Given the description of an element on the screen output the (x, y) to click on. 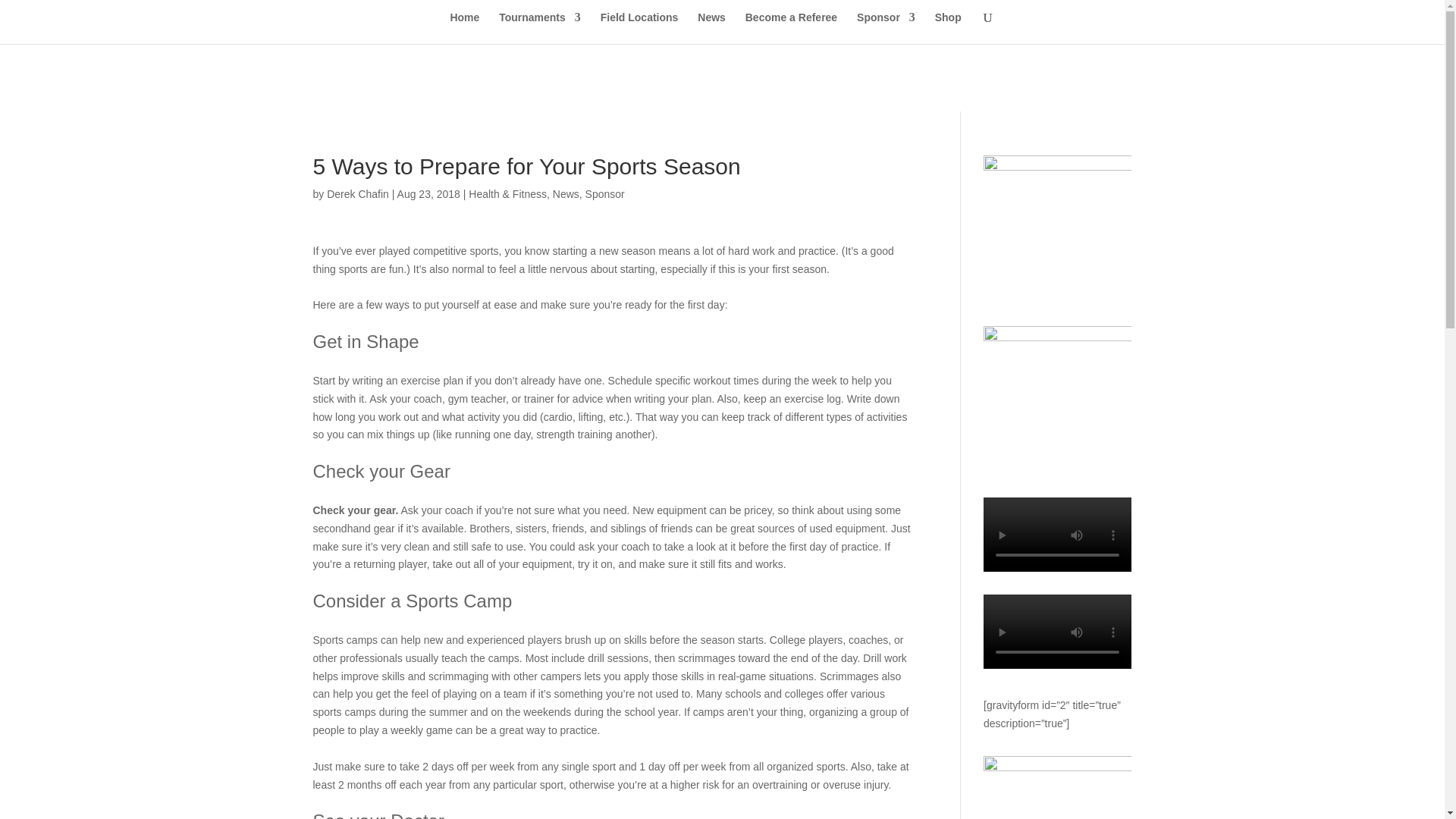
Home (464, 28)
Home (464, 28)
Tournaments (539, 28)
Sponsor (886, 28)
Derek Chafin (357, 193)
Become a Referee (791, 28)
Posts by Derek Chafin (357, 193)
Sponsor (604, 193)
Field Locations (638, 28)
Tournaments (539, 28)
